Given the description of an element on the screen output the (x, y) to click on. 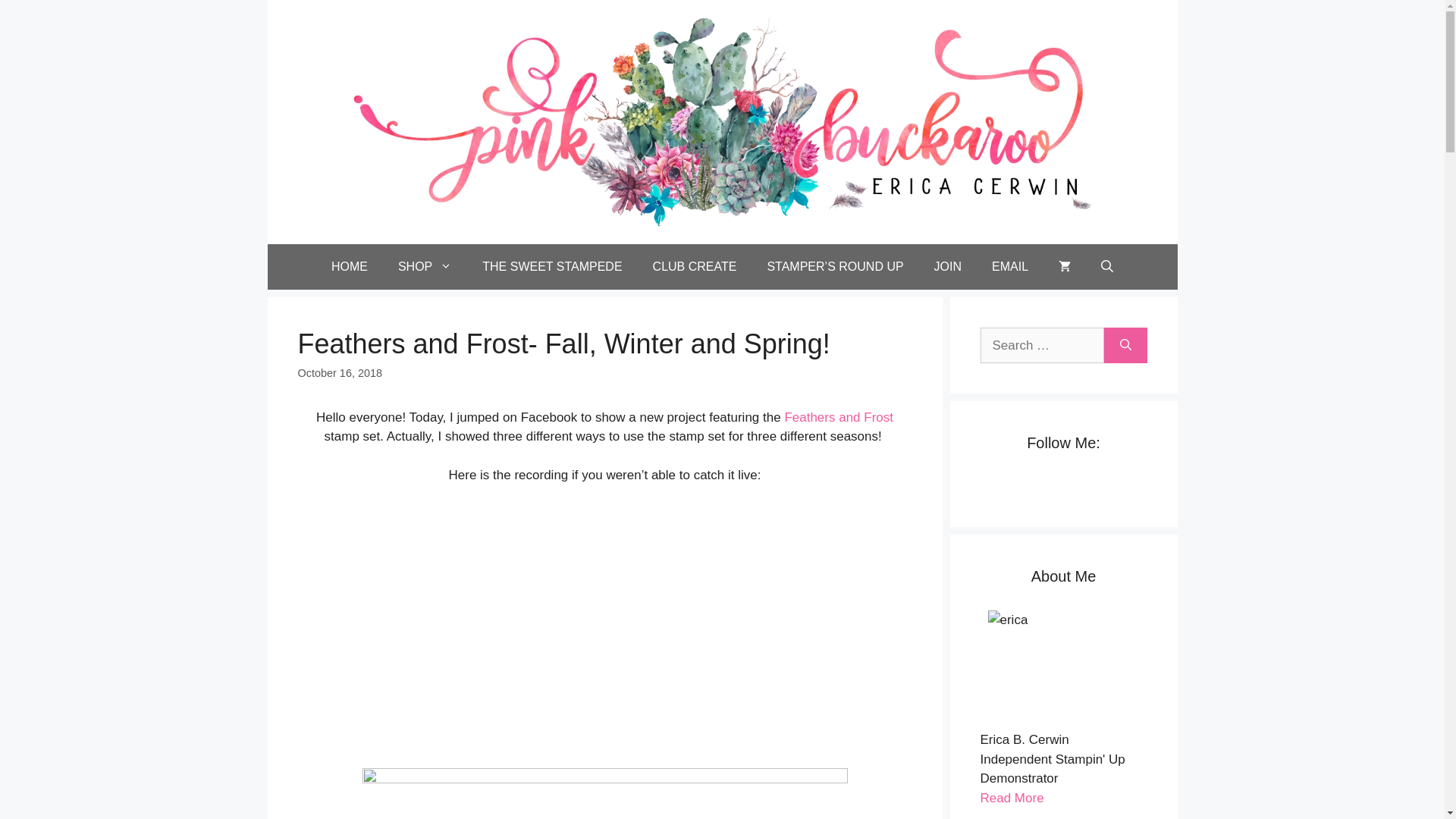
EMAIL (1009, 266)
JOIN (947, 266)
THE SWEET STAMPEDE (552, 266)
SHOP (424, 266)
Feathers and Frost (838, 417)
HOME (348, 266)
CLUB CREATE (694, 266)
Search for: (1041, 345)
View your shopping cart (1064, 266)
